Given the description of an element on the screen output the (x, y) to click on. 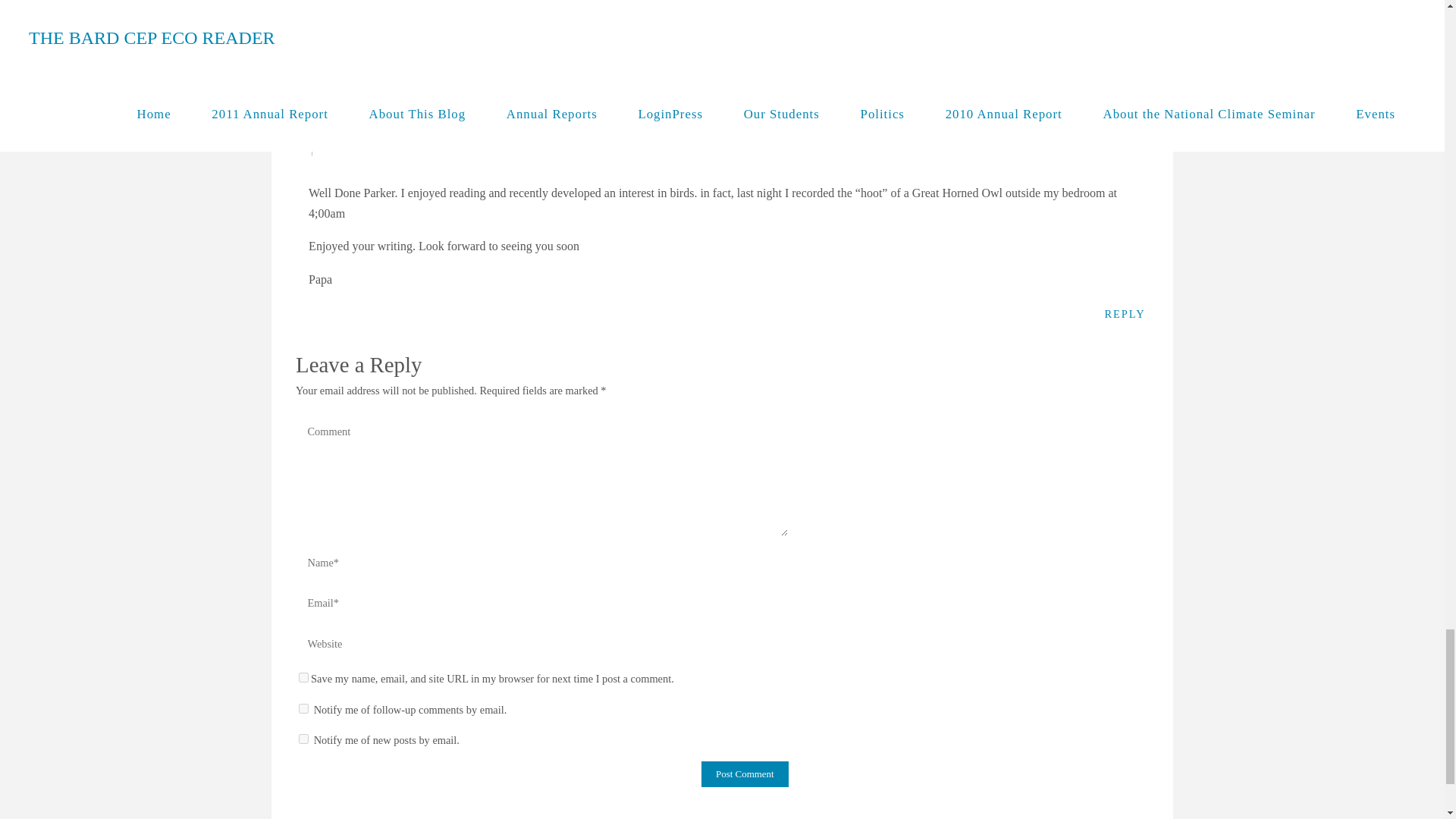
Post Comment (745, 774)
subscribe (303, 708)
subscribe (303, 738)
yes (303, 677)
